Given the description of an element on the screen output the (x, y) to click on. 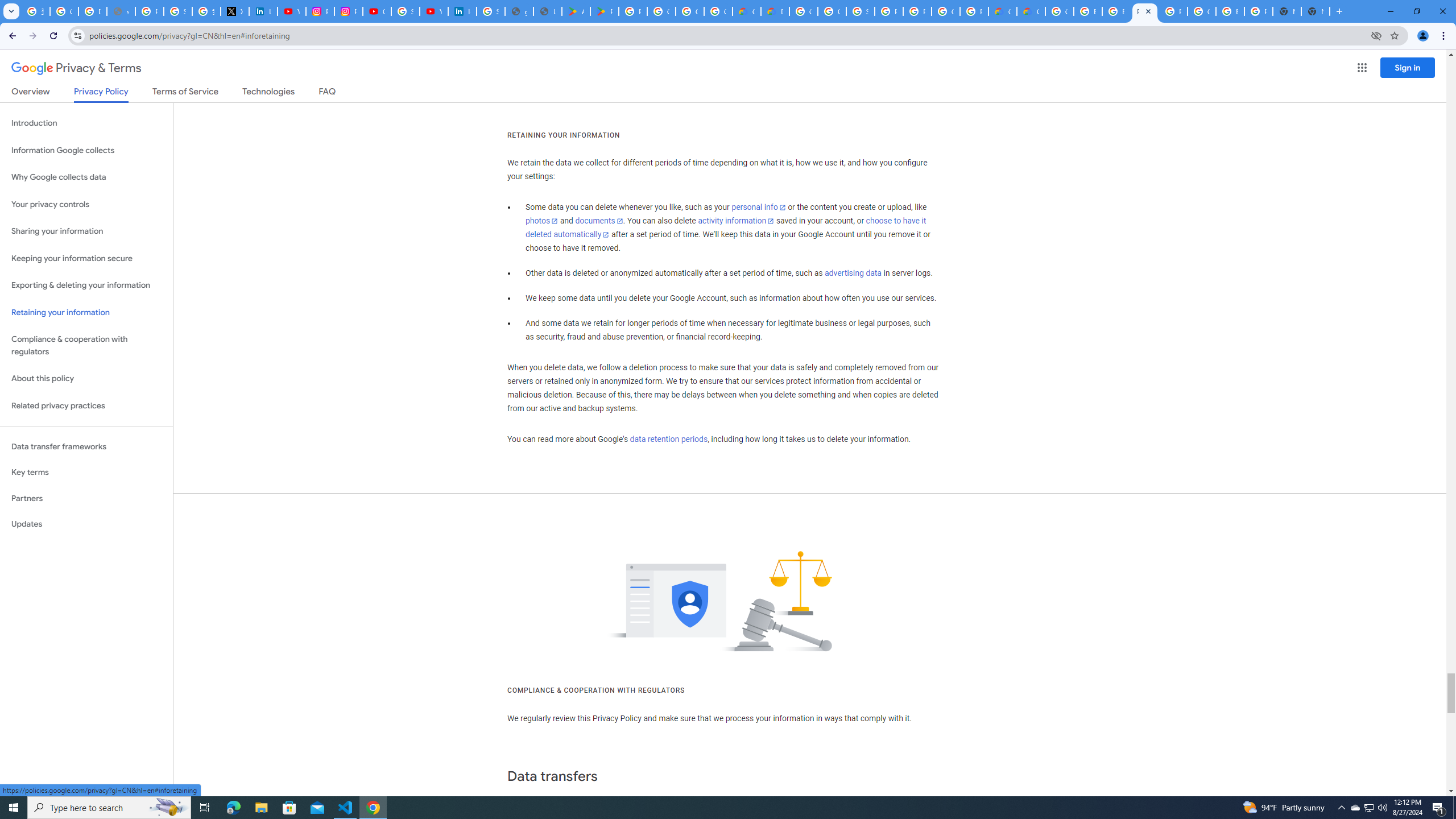
photos (542, 221)
activity information (735, 221)
